Given the description of an element on the screen output the (x, y) to click on. 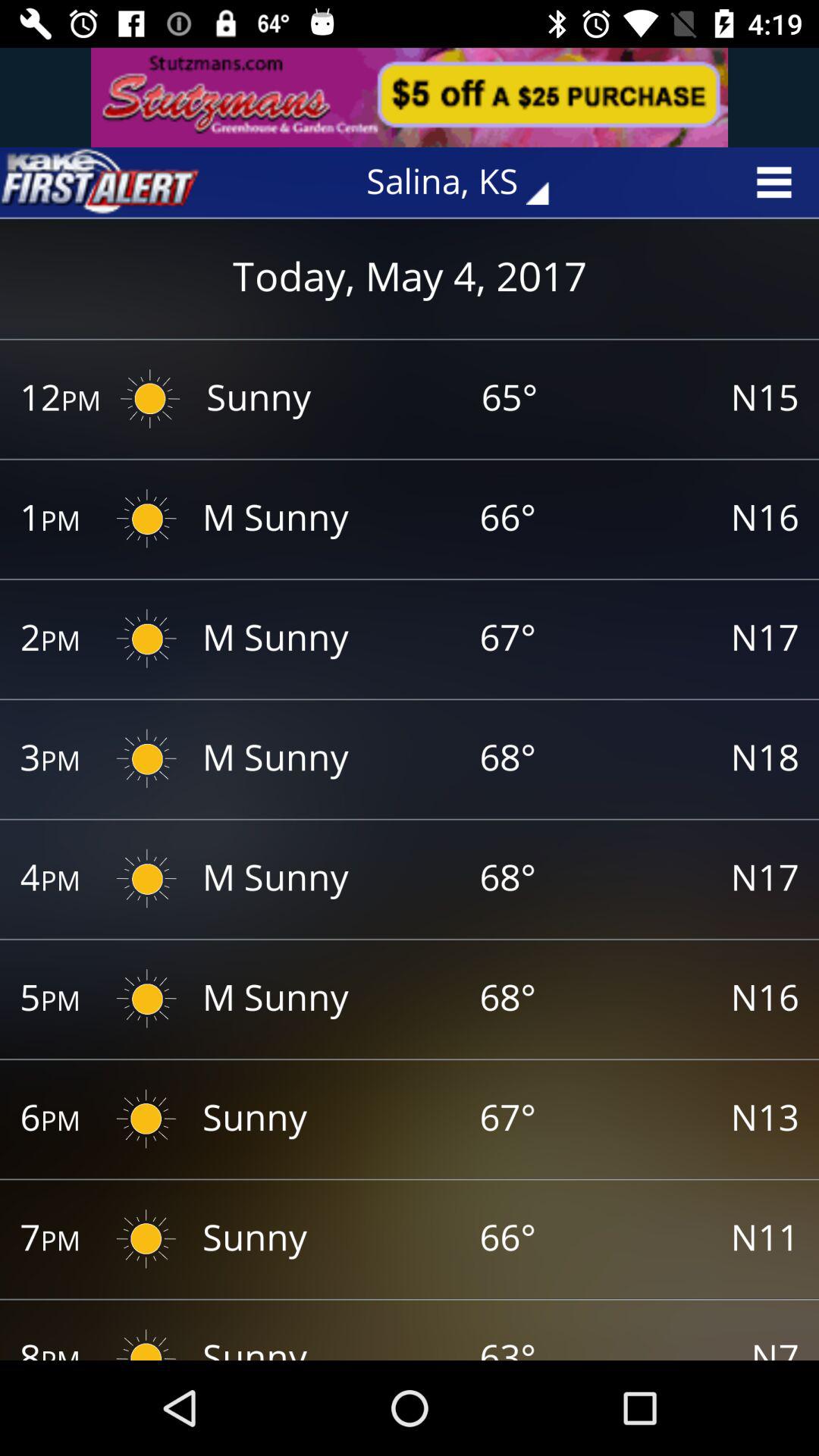
opens weather alerts (99, 182)
